Given the description of an element on the screen output the (x, y) to click on. 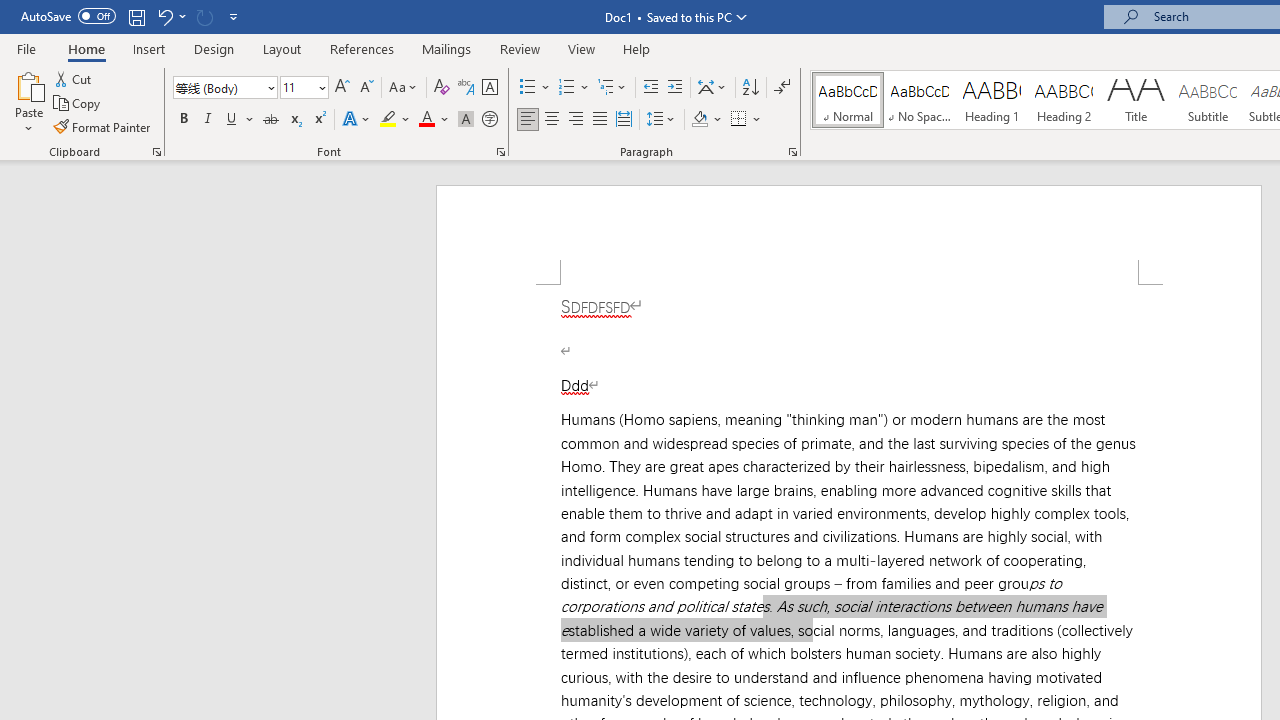
Shrink Font (365, 87)
Grow Font (342, 87)
Font Size (304, 87)
Font (224, 87)
Shading RGB(0, 0, 0) (699, 119)
Home (86, 48)
Layout (282, 48)
Align Left (527, 119)
References (362, 48)
Line and Paragraph Spacing (661, 119)
Undo Apply Quick Style Set (170, 15)
Align Right (575, 119)
Can't Repeat (204, 15)
Font (218, 87)
System (10, 11)
